Given the description of an element on the screen output the (x, y) to click on. 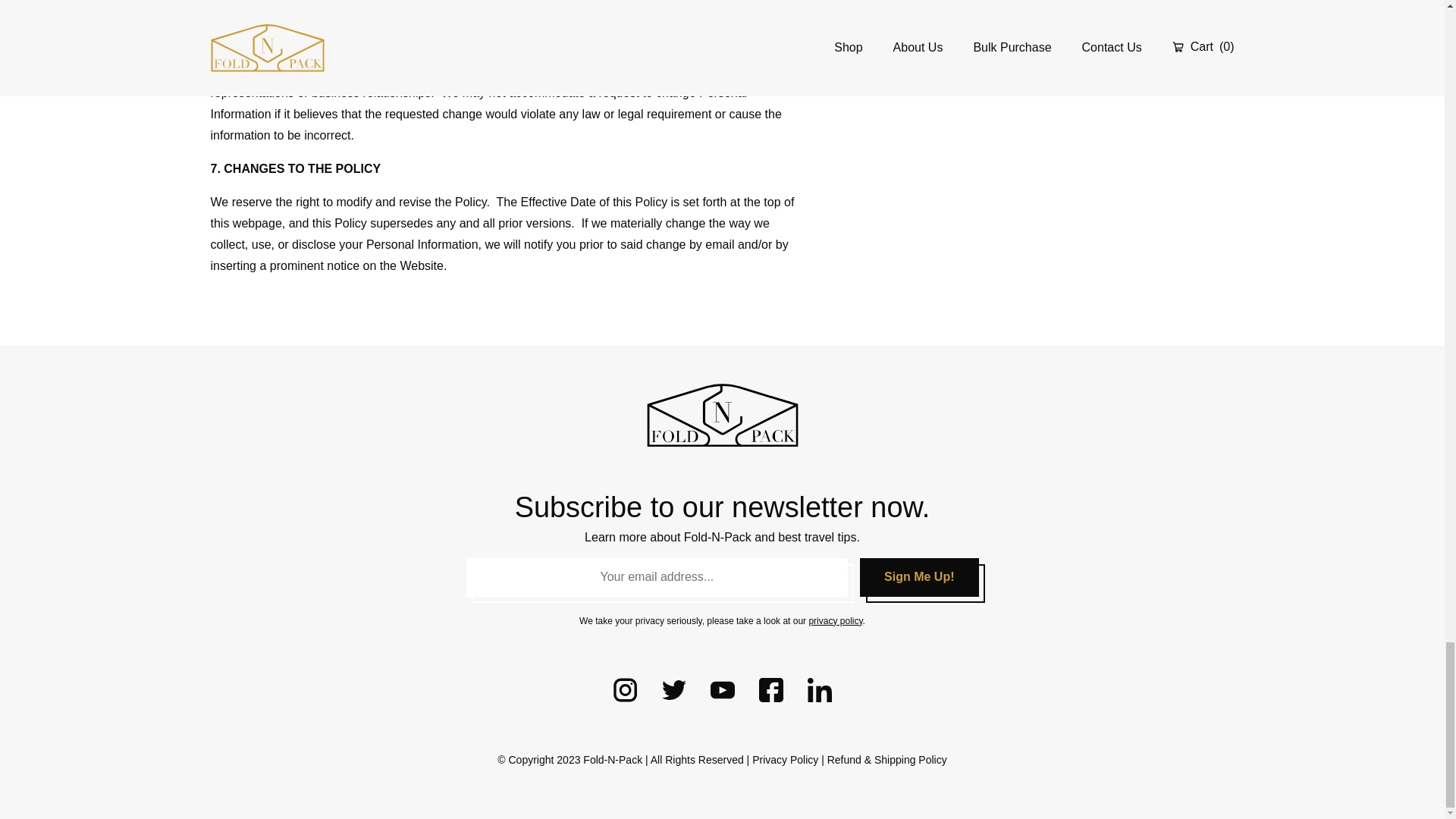
Sign Me Up! (919, 576)
privacy policy (834, 620)
Privacy Policy (785, 759)
